Given the description of an element on the screen output the (x, y) to click on. 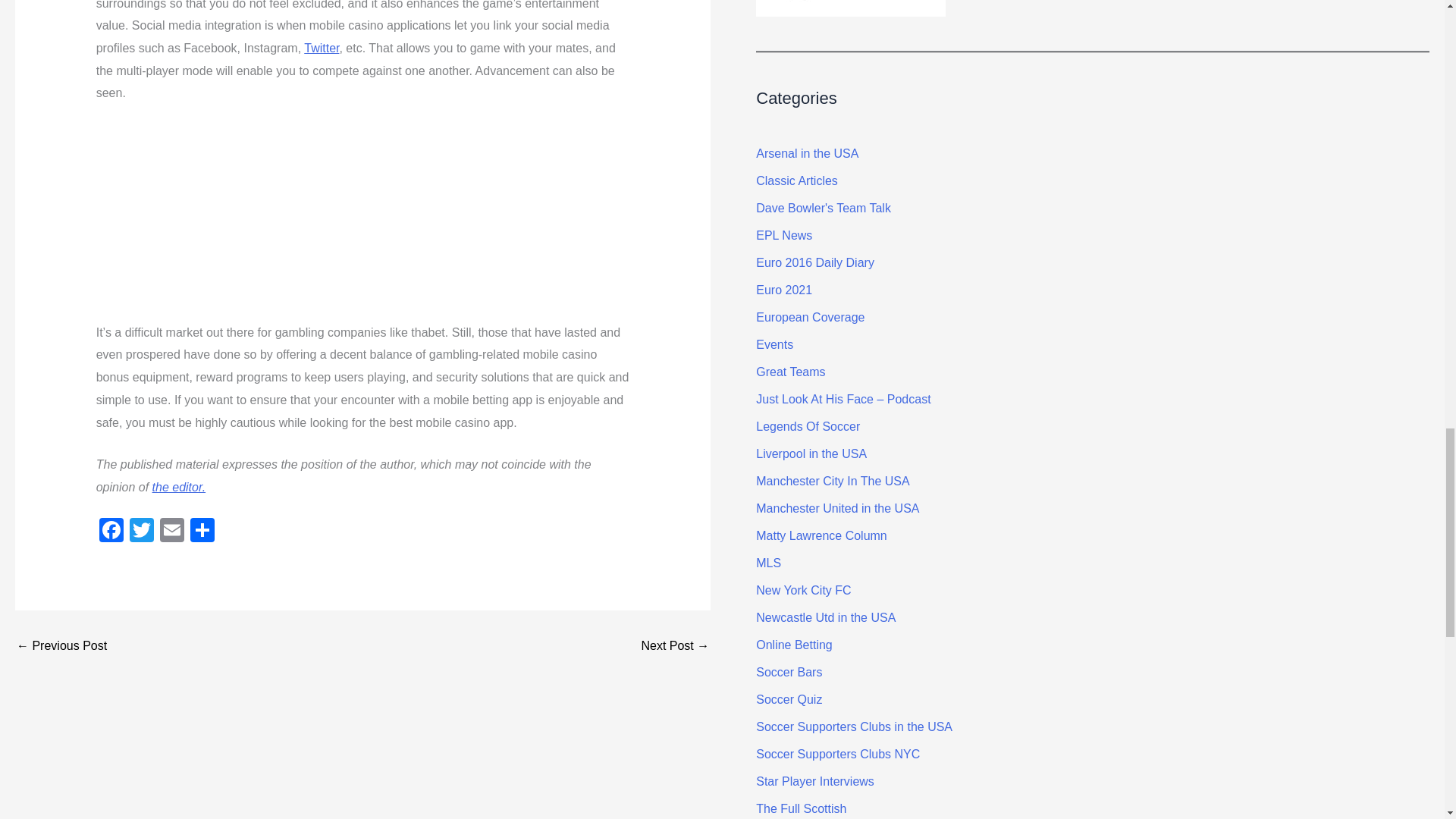
Liverpool in the USA (810, 453)
Events (774, 344)
Twitter (321, 47)
Twitter (141, 531)
European Coverage (809, 317)
Email (172, 531)
Everton Safe But Players Are Attacked (61, 645)
the editor. (179, 486)
Euro 2016 Daily Diary (815, 262)
Facebook (111, 531)
